Given the description of an element on the screen output the (x, y) to click on. 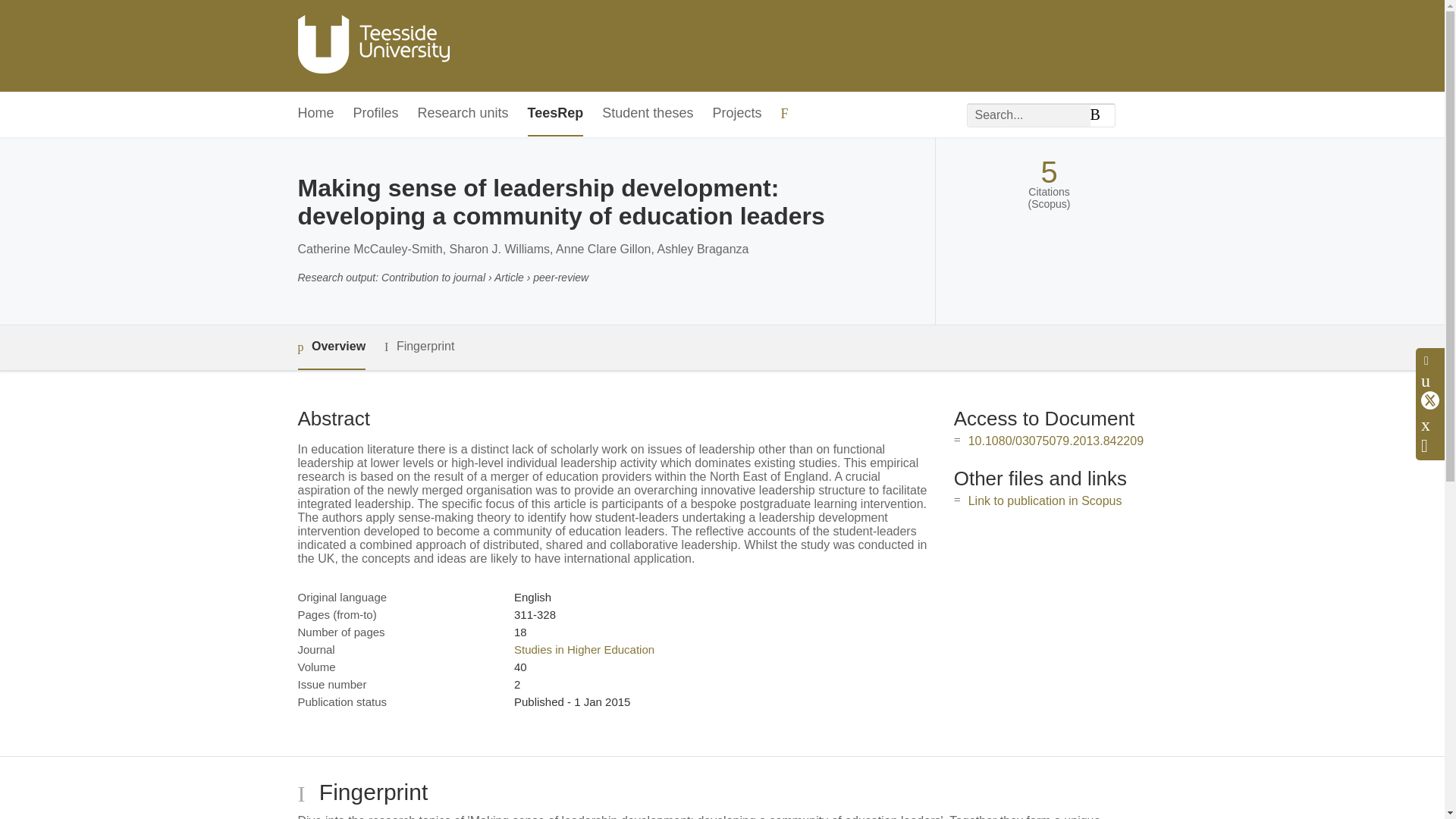
TeesRep (555, 113)
Profiles (375, 113)
Projects (736, 113)
Fingerprint (419, 346)
Teesside University's Research Portal Home (372, 45)
Link to publication in Scopus (1045, 500)
Student theses (647, 113)
Research units (462, 113)
Overview (331, 347)
